Given the description of an element on the screen output the (x, y) to click on. 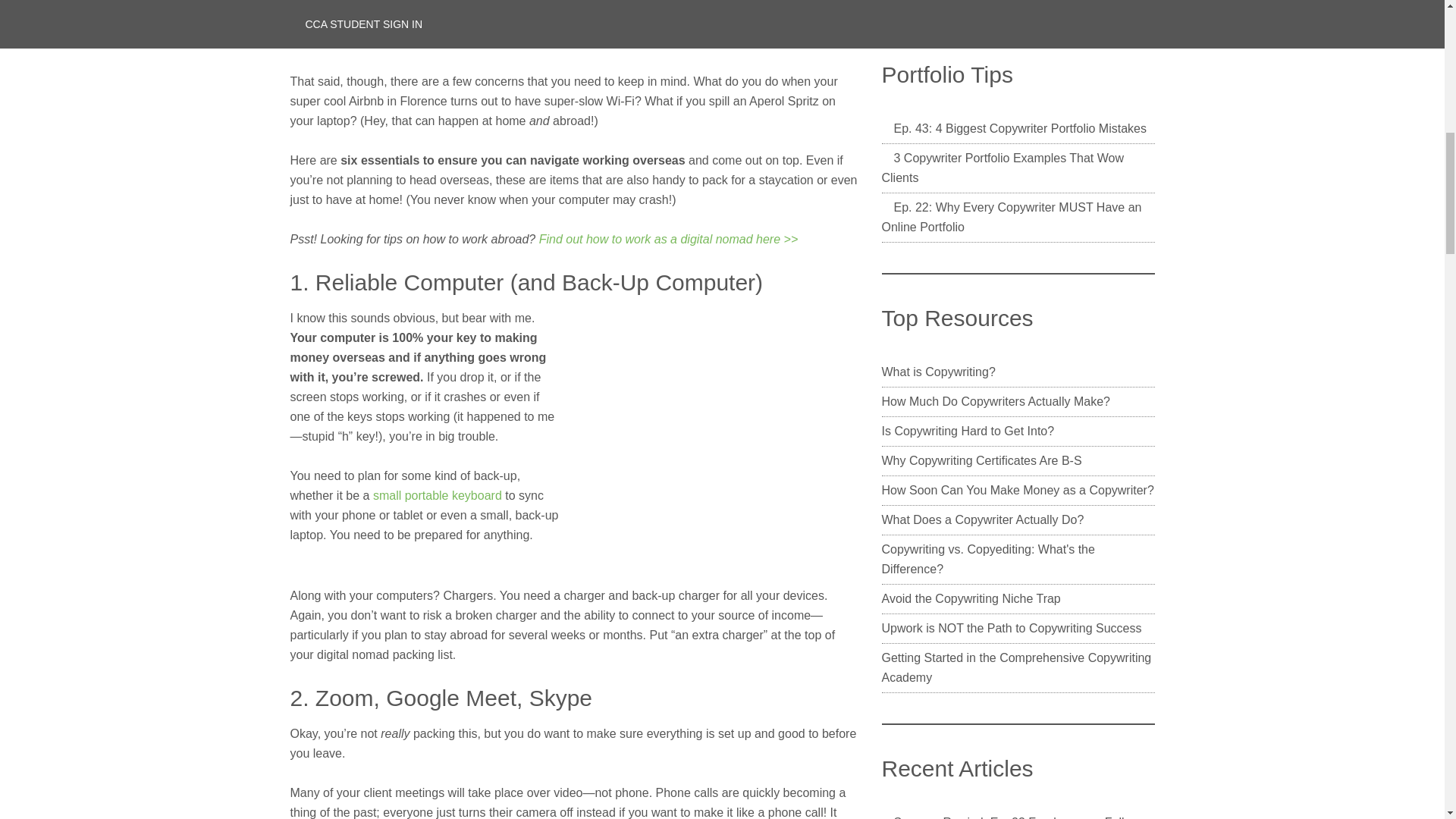
small portable keyboard (437, 495)
pitch potential clients (727, 21)
